Given the description of an element on the screen output the (x, y) to click on. 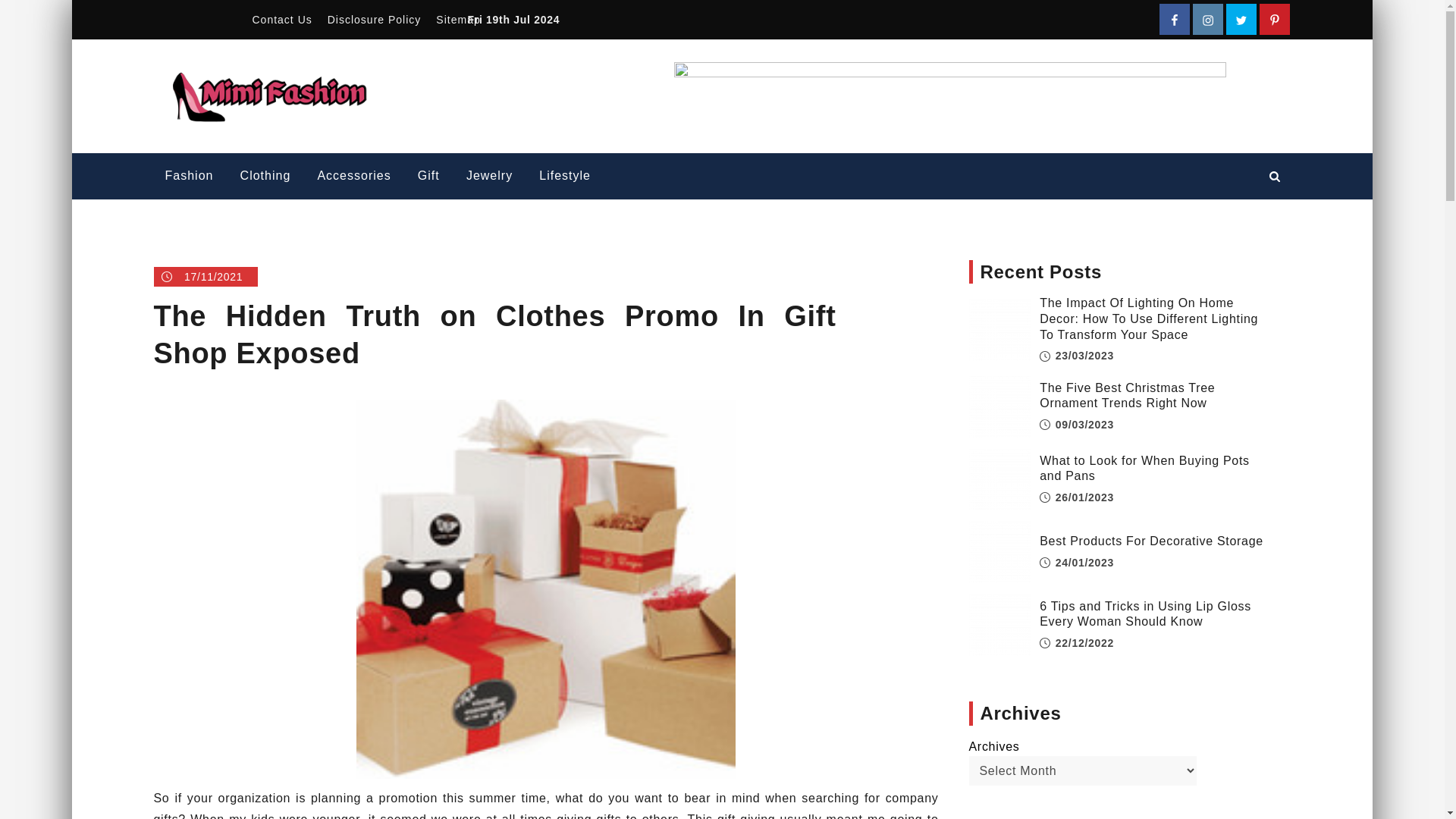
Jewelry (489, 176)
Instagram (1207, 19)
The Five Best Christmas Tree Ornament Trends Right Now (1126, 395)
Pinterest (1273, 19)
What to Look for When Buying Pots and Pans (999, 479)
Sitemap (457, 19)
Clothing (265, 176)
Best Products For Decorative Storage (999, 552)
Mimi Fashion (455, 81)
Facebook (1173, 19)
Disclosure Policy (374, 19)
6 Tips and Tricks in Using Lip Gloss Every Woman Should Know (999, 625)
The Five Best Christmas Tree Ornament Trends Right Now (999, 406)
Fashion (188, 176)
